Given the description of an element on the screen output the (x, y) to click on. 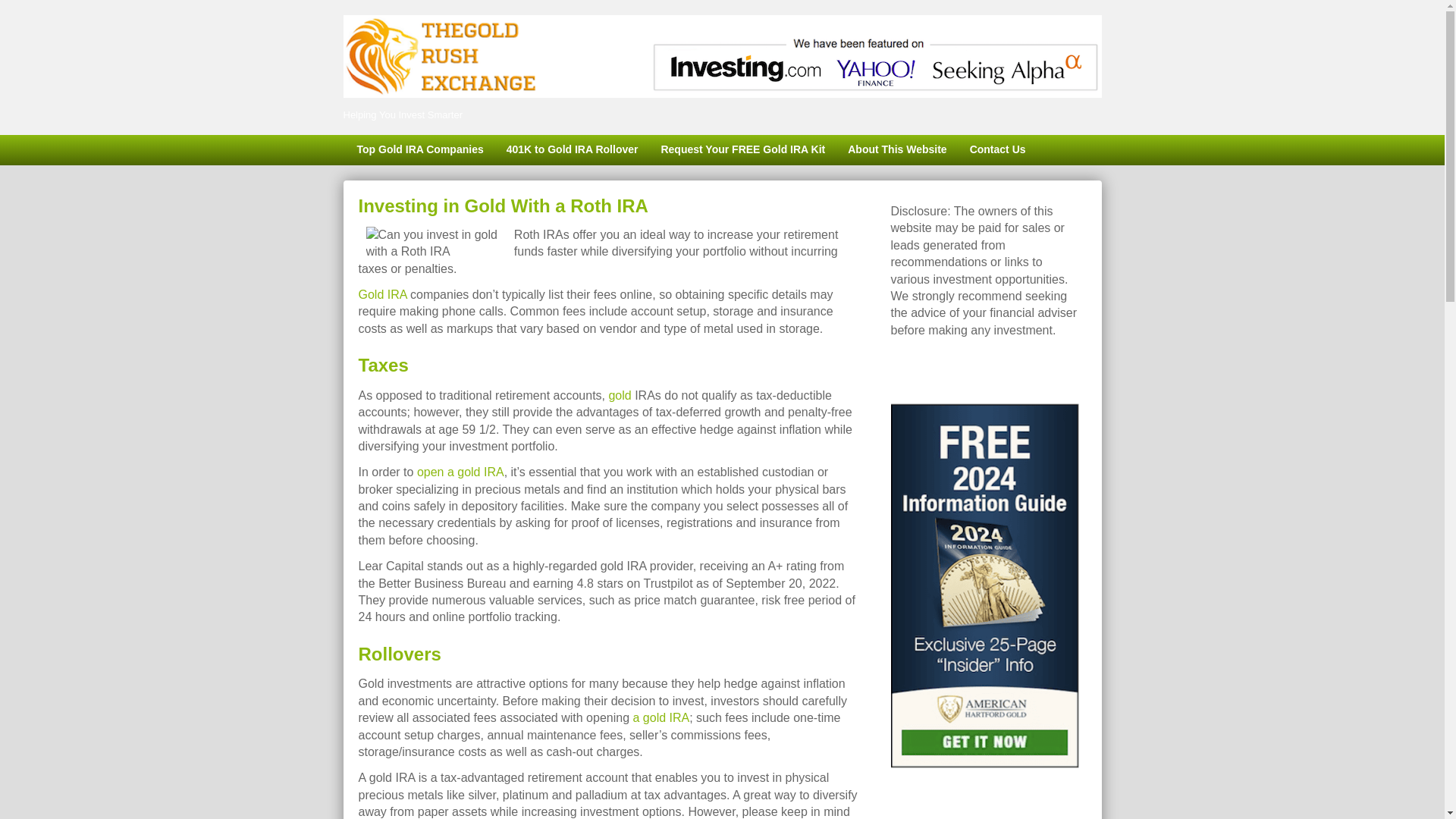
open a gold IRA (459, 472)
Request Your FREE Gold IRA Kit (742, 150)
a gold IRA (659, 717)
Contact Us (997, 150)
About This Website (896, 150)
Gold IRA (382, 294)
gold (619, 395)
401K to Gold IRA Rollover (572, 150)
Top Gold IRA Companies (418, 150)
